Given the description of an element on the screen output the (x, y) to click on. 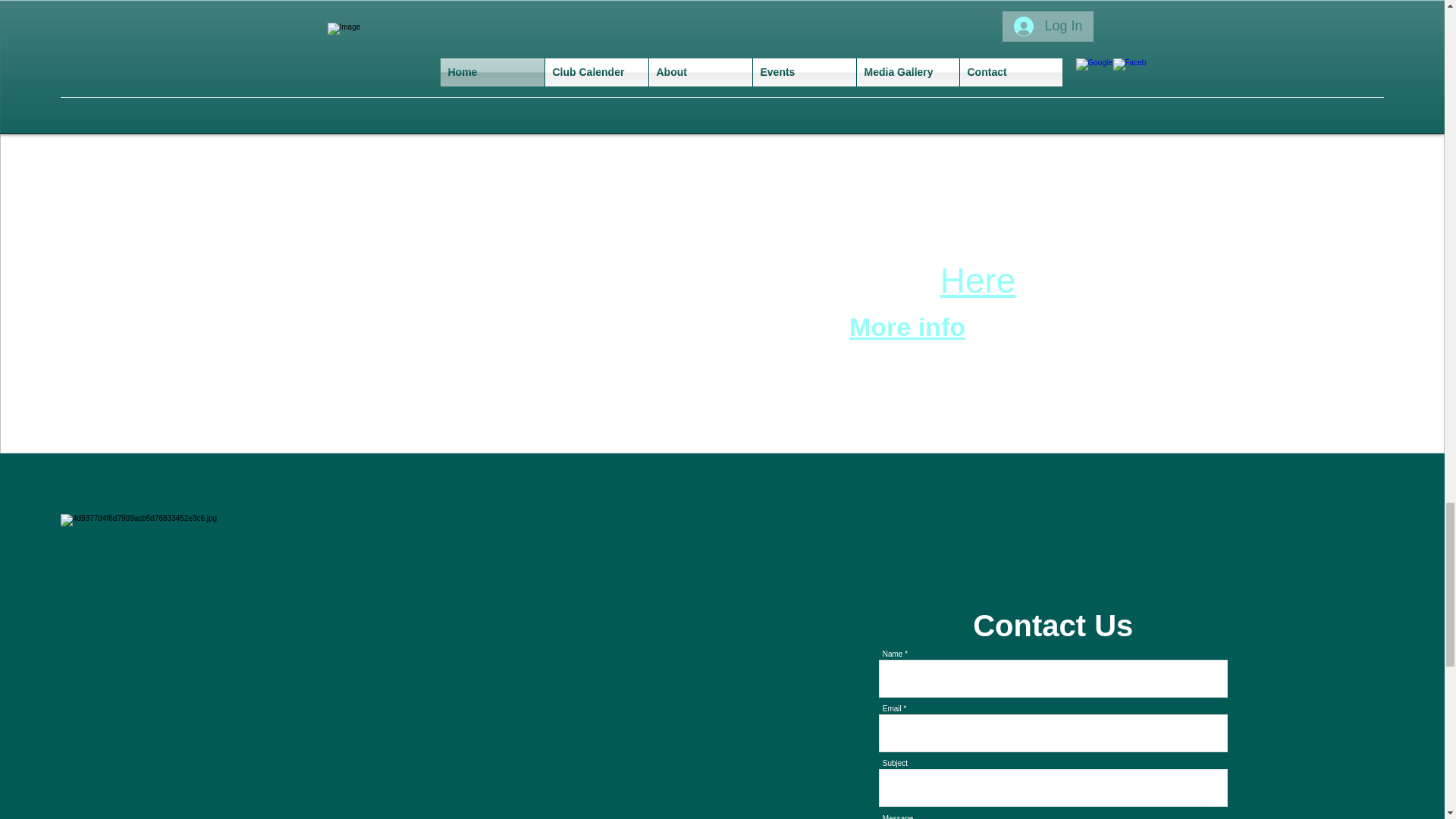
Here (978, 280)
More info (906, 326)
